Given the description of an element on the screen output the (x, y) to click on. 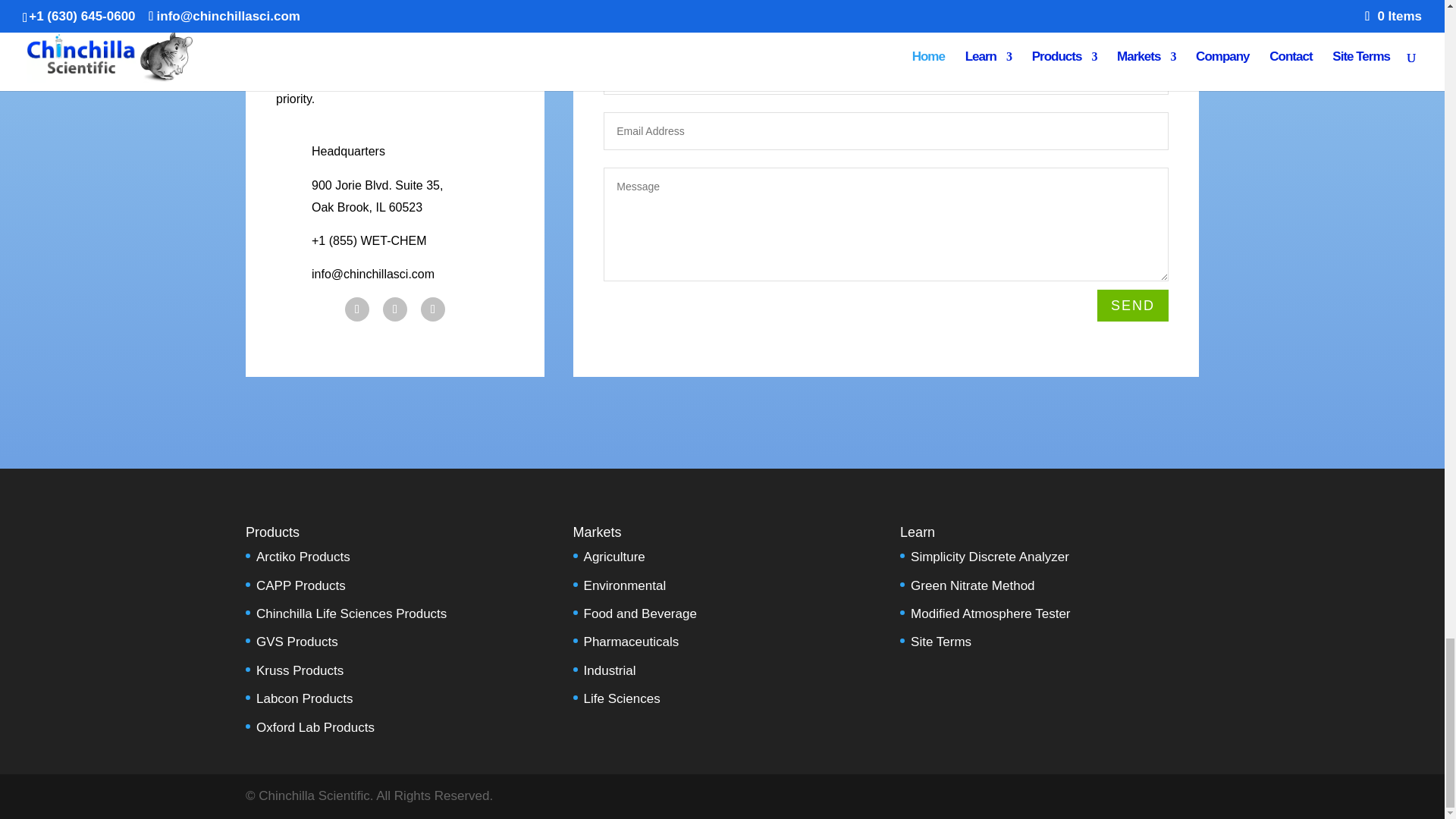
Follow on Facebook (357, 309)
Follow on X (394, 309)
Follow on LinkedIn (432, 309)
